Given the description of an element on the screen output the (x, y) to click on. 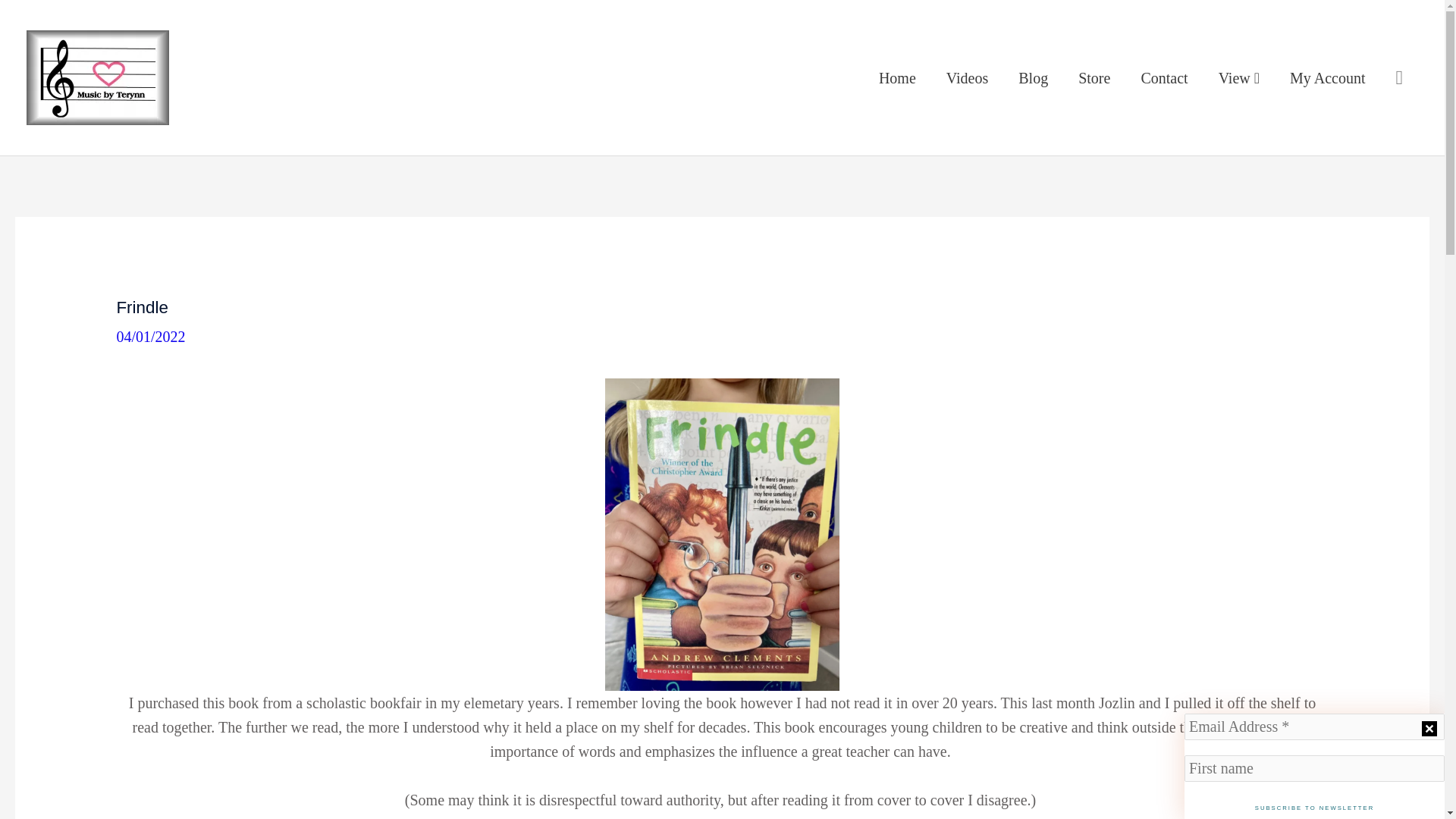
Contact (1163, 76)
Videos (967, 76)
Store (1093, 76)
Search (1398, 77)
Blog (1032, 76)
Home (897, 76)
My Account (1327, 76)
